Given the description of an element on the screen output the (x, y) to click on. 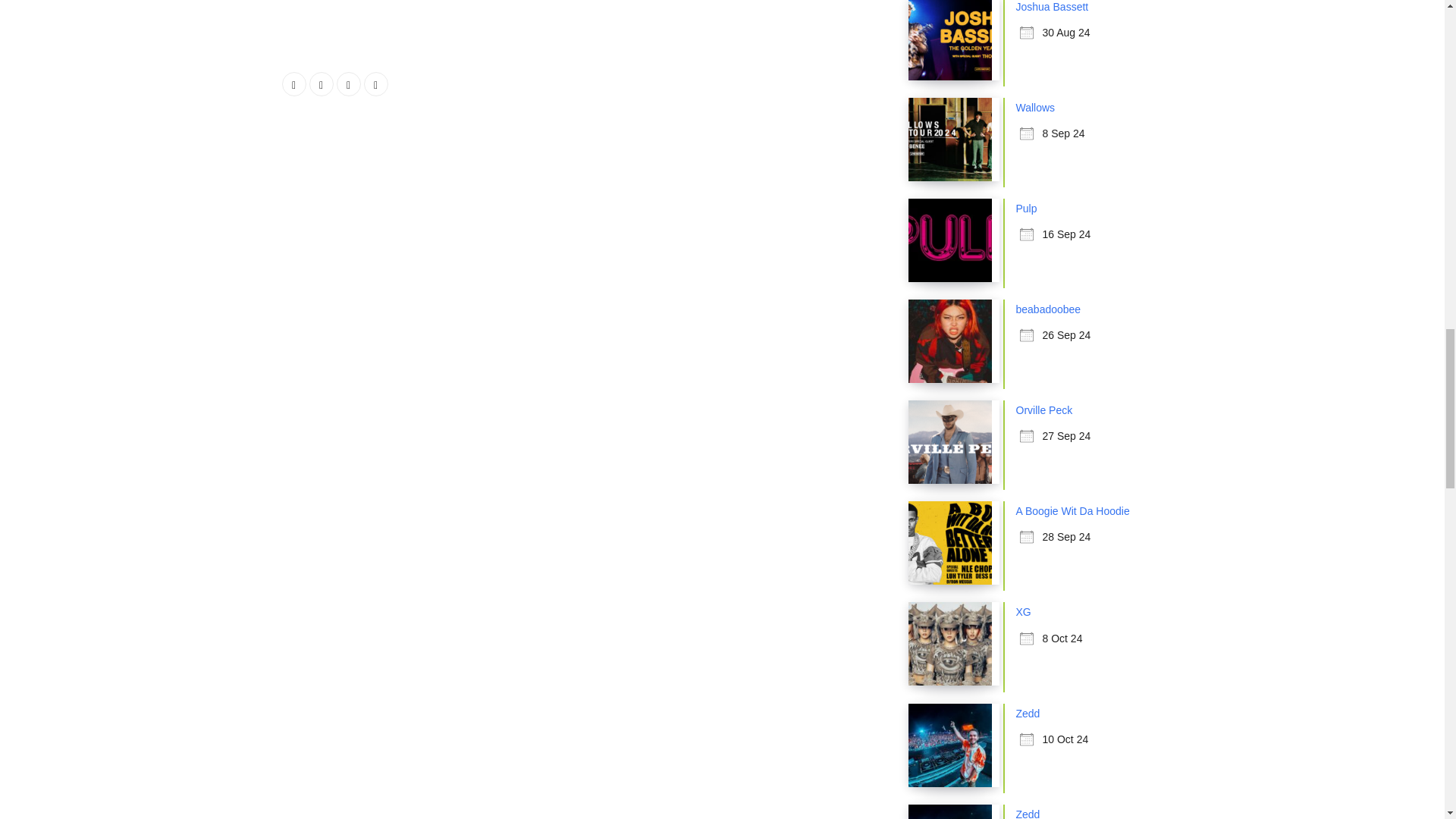
Joshua Bassett (1052, 6)
A Boogie Wit Da Hoodie (1072, 510)
Pinterest (376, 84)
beabadoobee (1048, 309)
Facebook (293, 84)
XG (1023, 612)
LinkedIn (348, 84)
Zedd (1028, 813)
Orville Peck (1044, 410)
Zedd (1028, 712)
Pulp (1026, 208)
Twitter (320, 84)
Wallows (1035, 107)
